Given the description of an element on the screen output the (x, y) to click on. 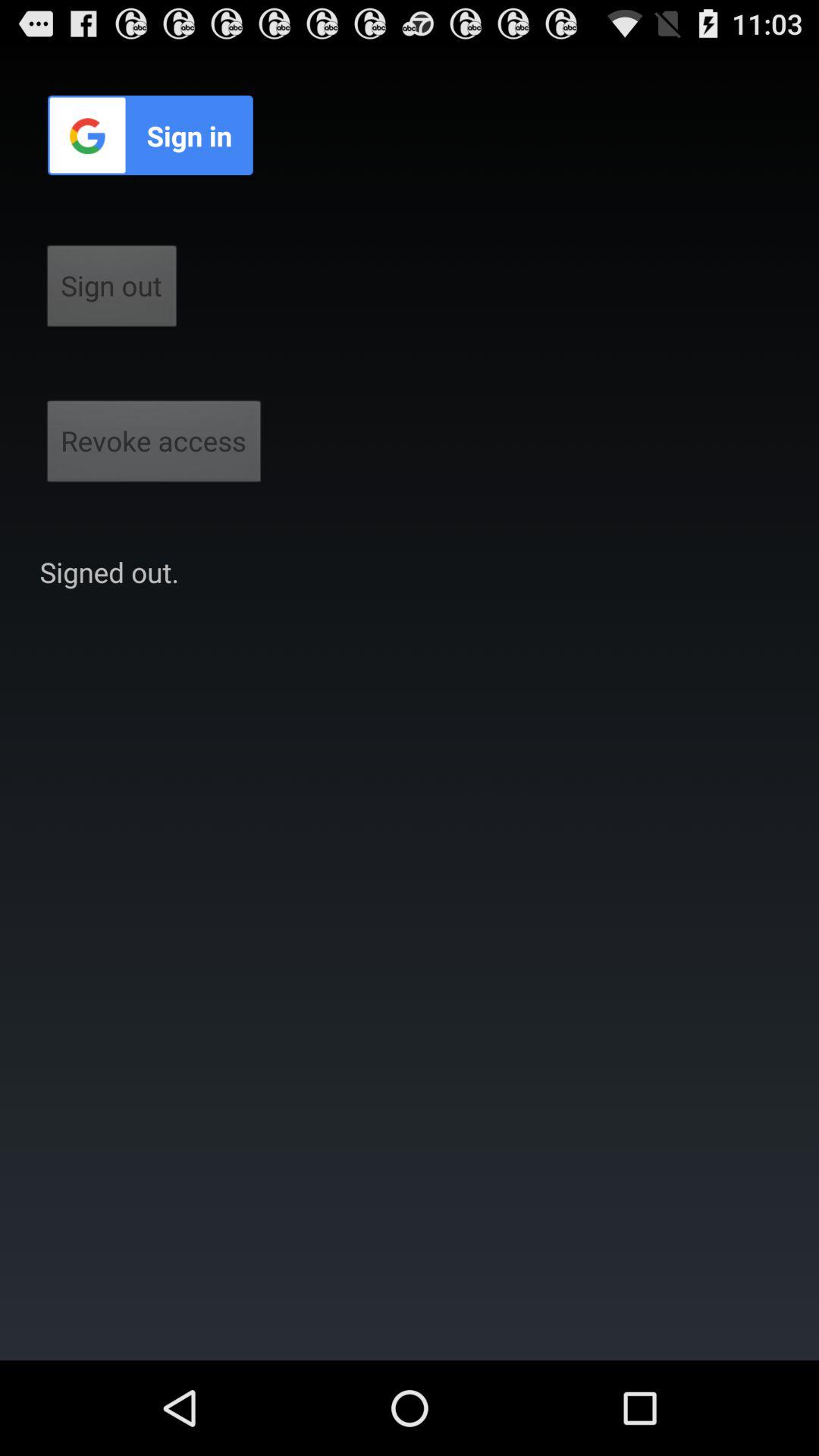
open revoke access icon (154, 445)
